Given the description of an element on the screen output the (x, y) to click on. 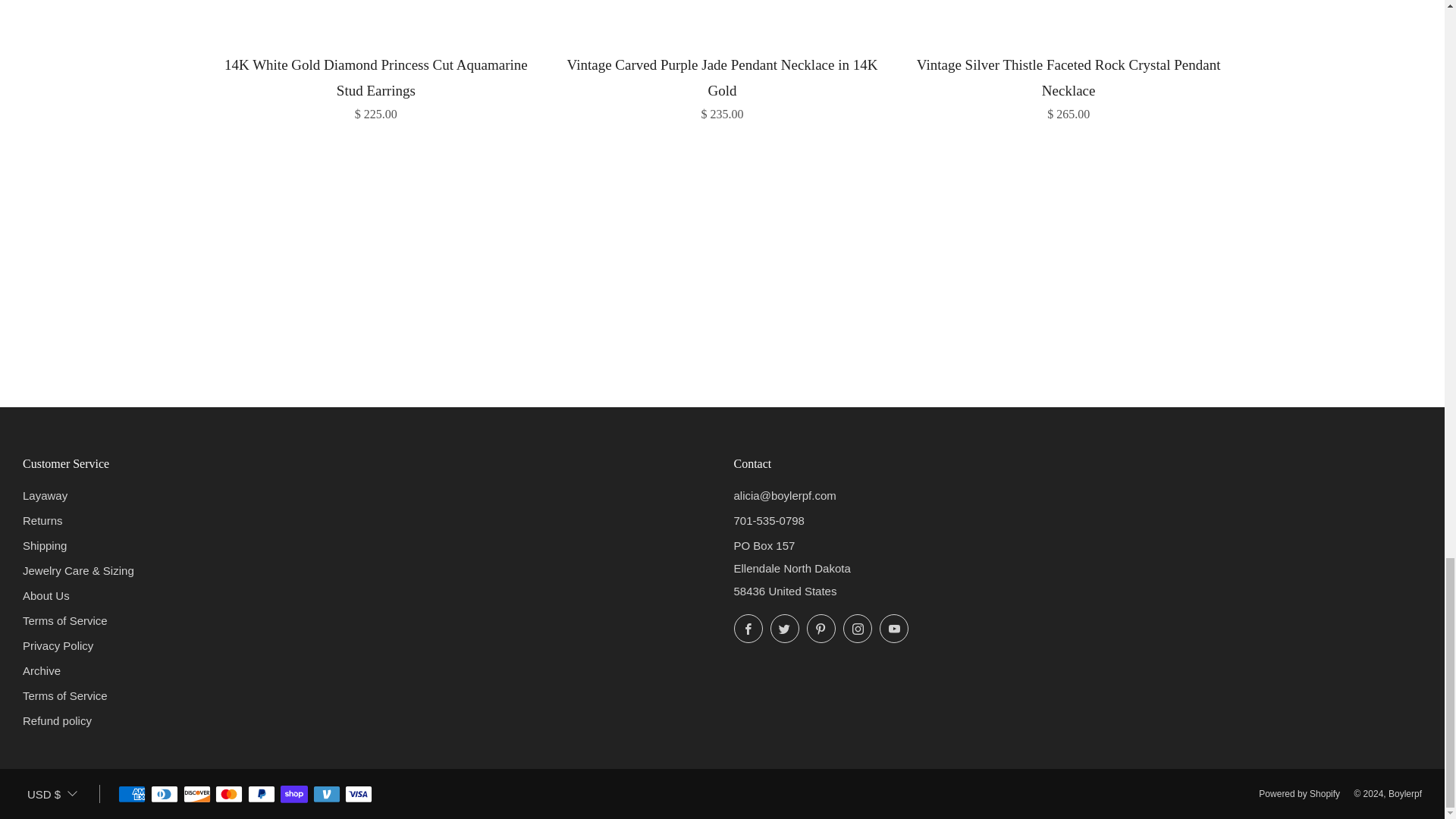
Vintage Silver Thistle Faceted Rock Crystal Pendant Necklace (1068, 86)
Vintage Carved Purple Jade Pendant Necklace in 14K Gold (721, 86)
14K White Gold Diamond Princess Cut Aquamarine Stud Earrings (376, 86)
